Given the description of an element on the screen output the (x, y) to click on. 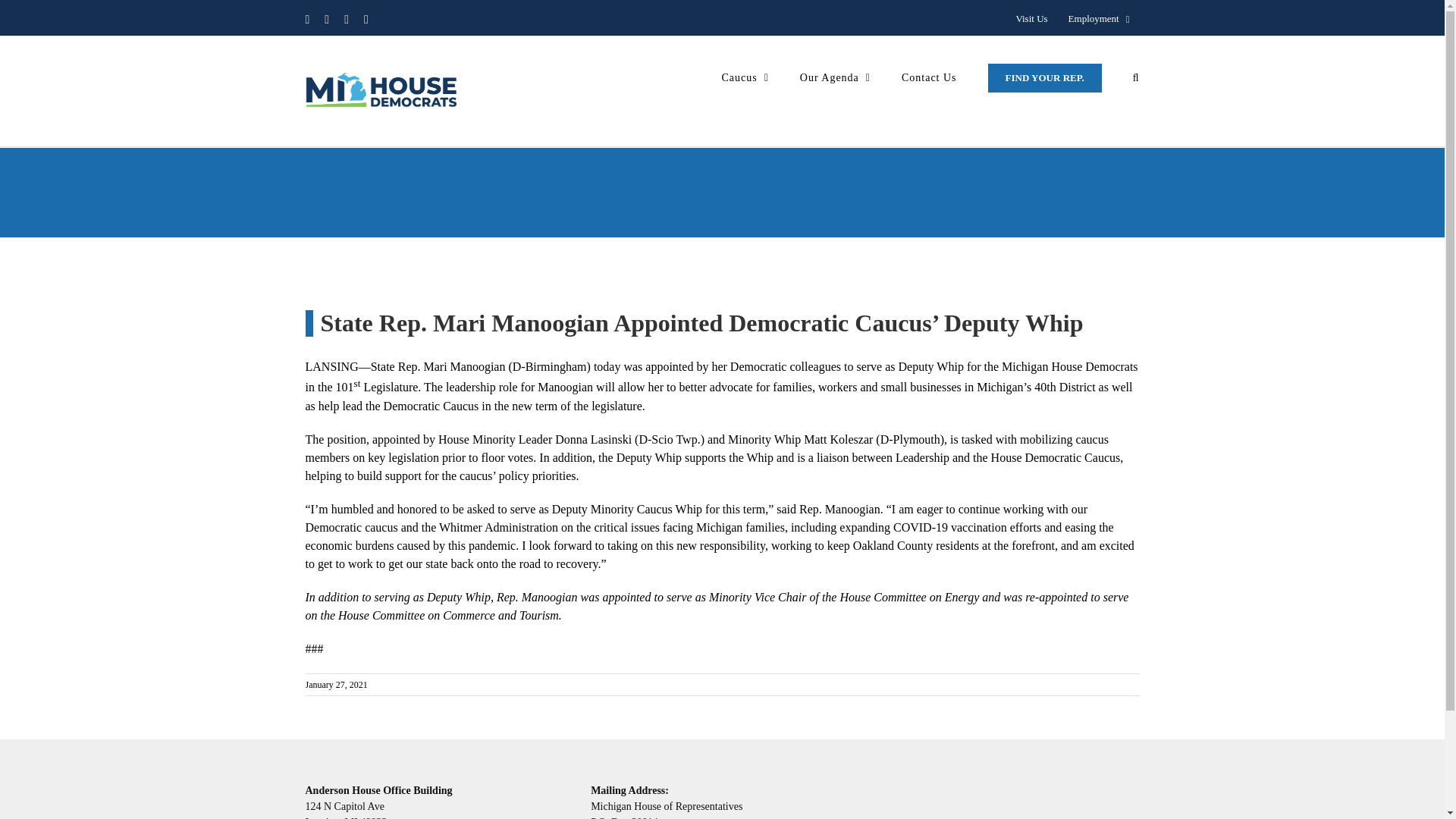
Our Agenda (834, 78)
Visit Us (1031, 19)
FIND YOUR REP. (1045, 78)
Employment (1099, 19)
